Given the description of an element on the screen output the (x, y) to click on. 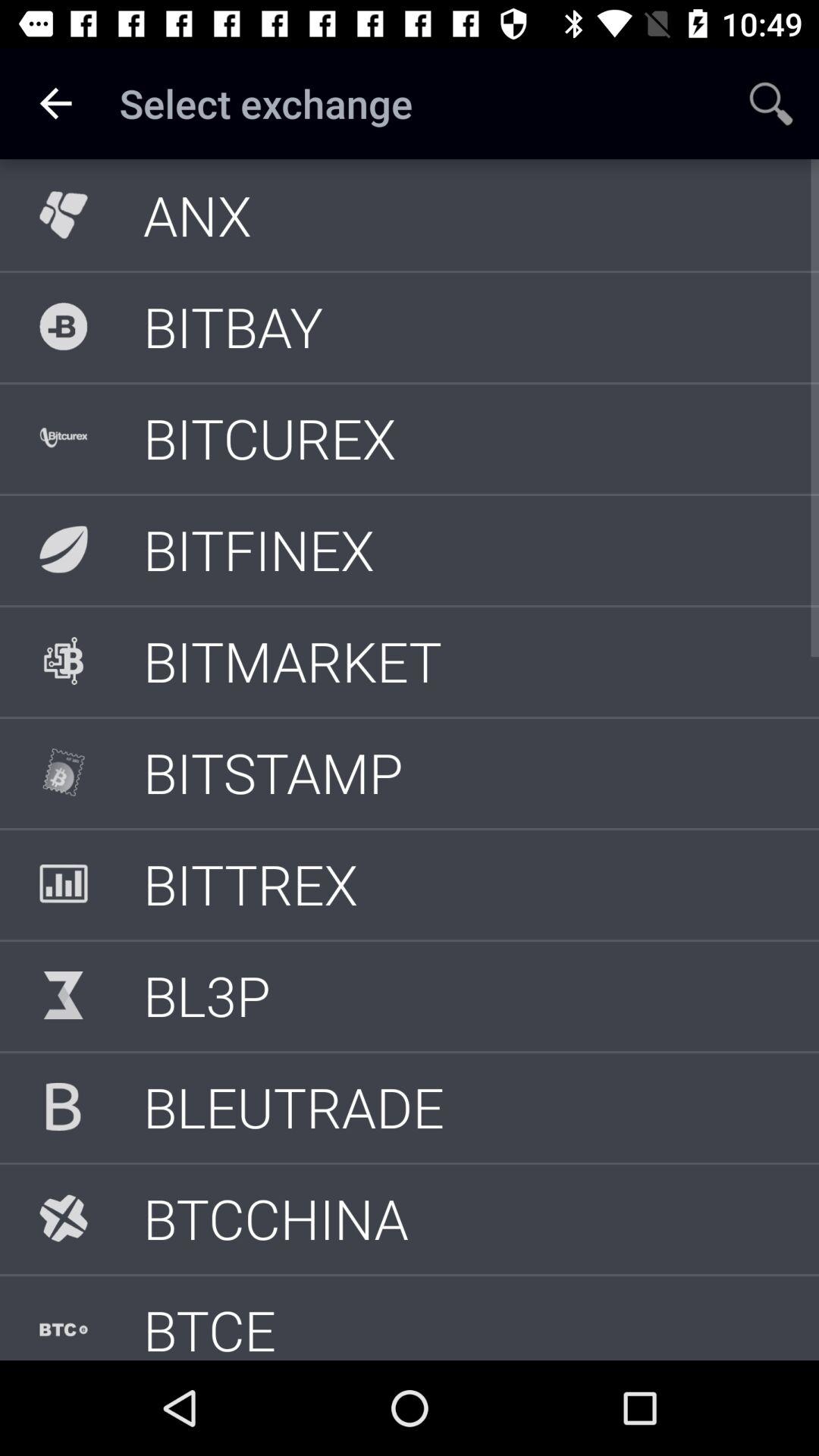
press app to the right of the select exchange (771, 103)
